Given the description of an element on the screen output the (x, y) to click on. 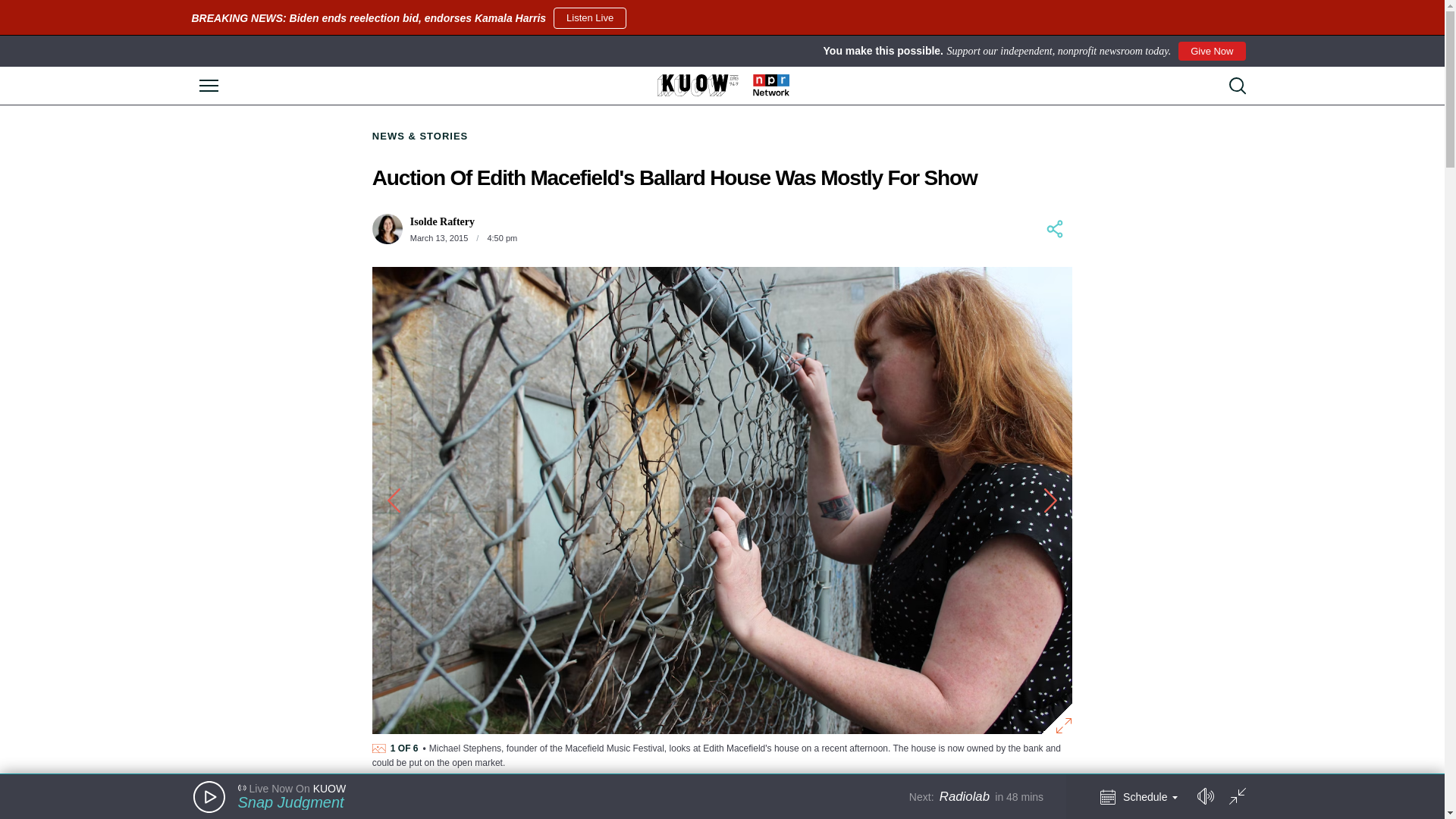
Listen Live (589, 17)
Give Now (1210, 51)
